Given the description of an element on the screen output the (x, y) to click on. 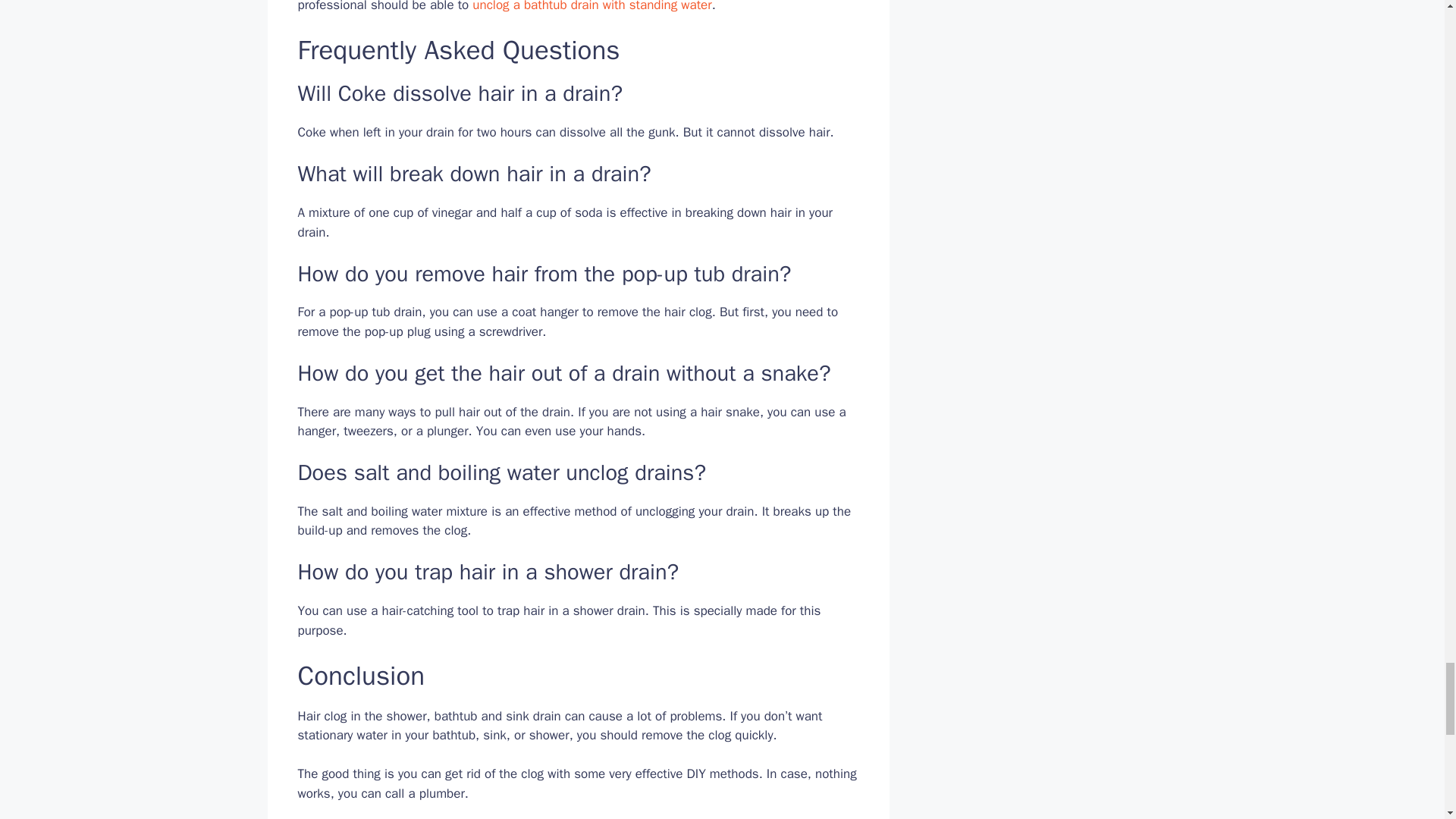
unclog a bathtub drain with standing water (591, 6)
